Given the description of an element on the screen output the (x, y) to click on. 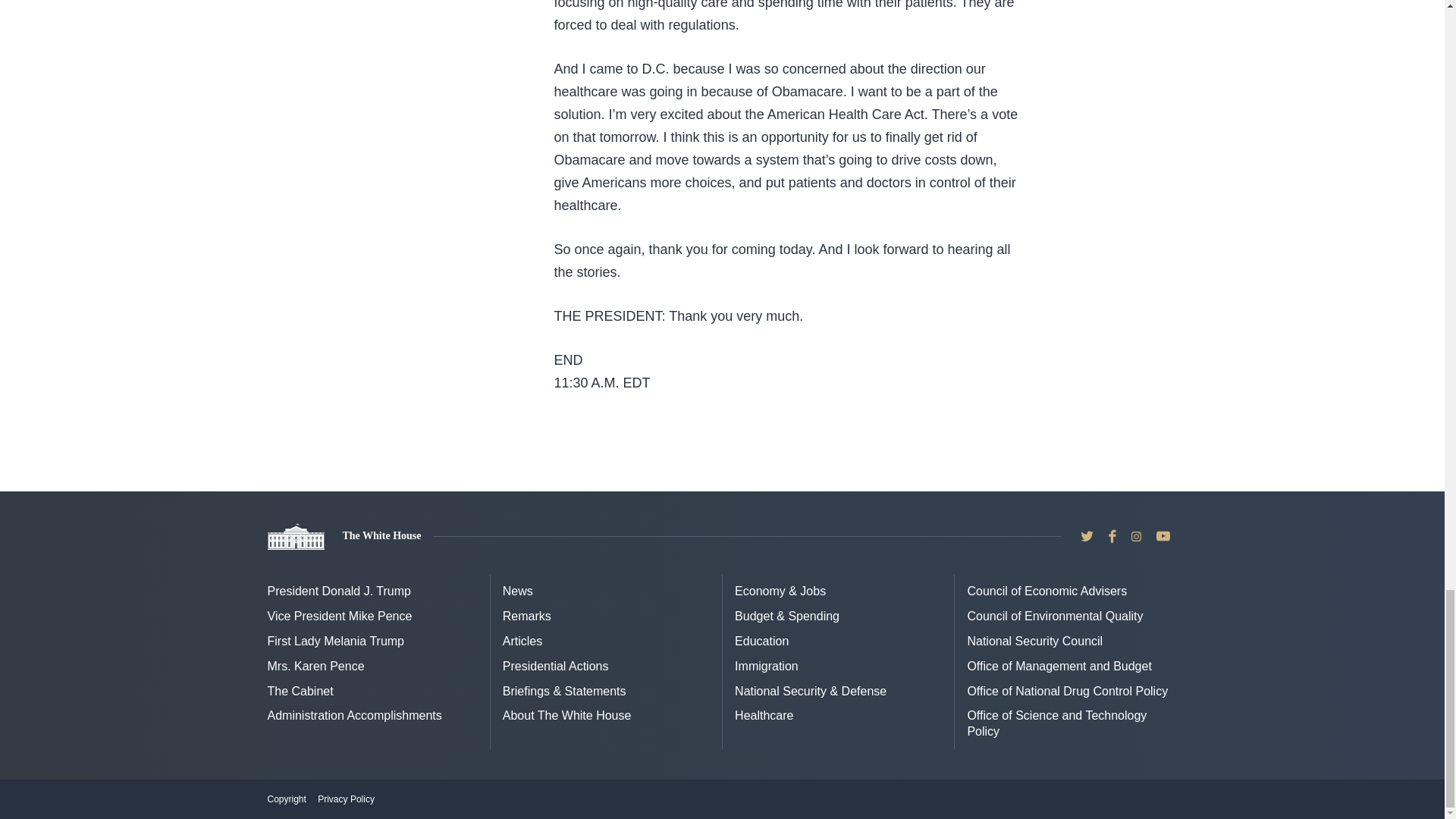
Remarks (526, 615)
About The White House (566, 715)
Presidential Actions (555, 666)
News (517, 590)
The Cabinet (299, 690)
Healthcare (764, 715)
Education (762, 640)
Immigration (766, 666)
Articles (521, 640)
Mrs. Karen Pence (315, 666)
